Given the description of an element on the screen output the (x, y) to click on. 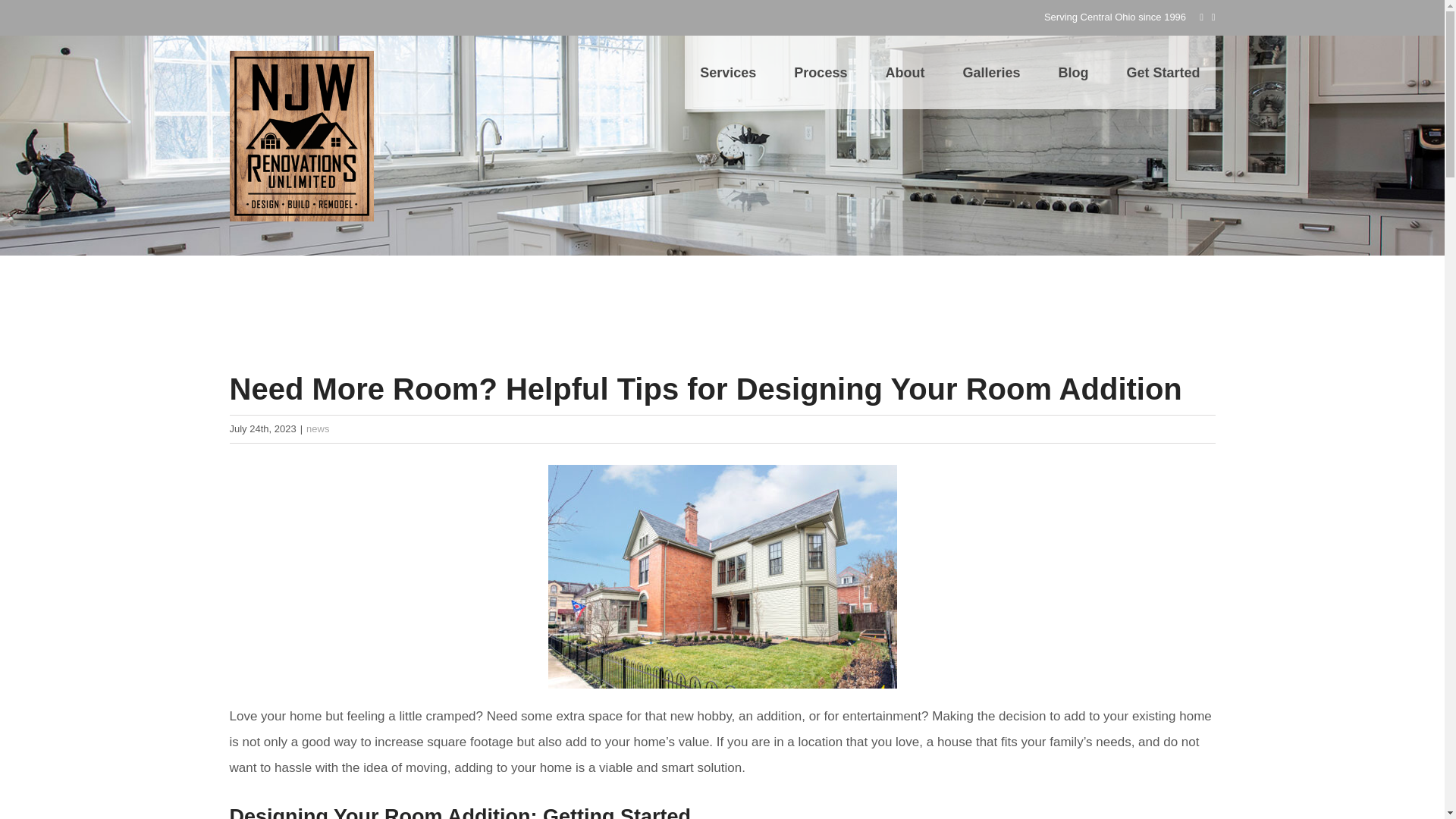
news (317, 428)
Get Started (1162, 72)
